Given the description of an element on the screen output the (x, y) to click on. 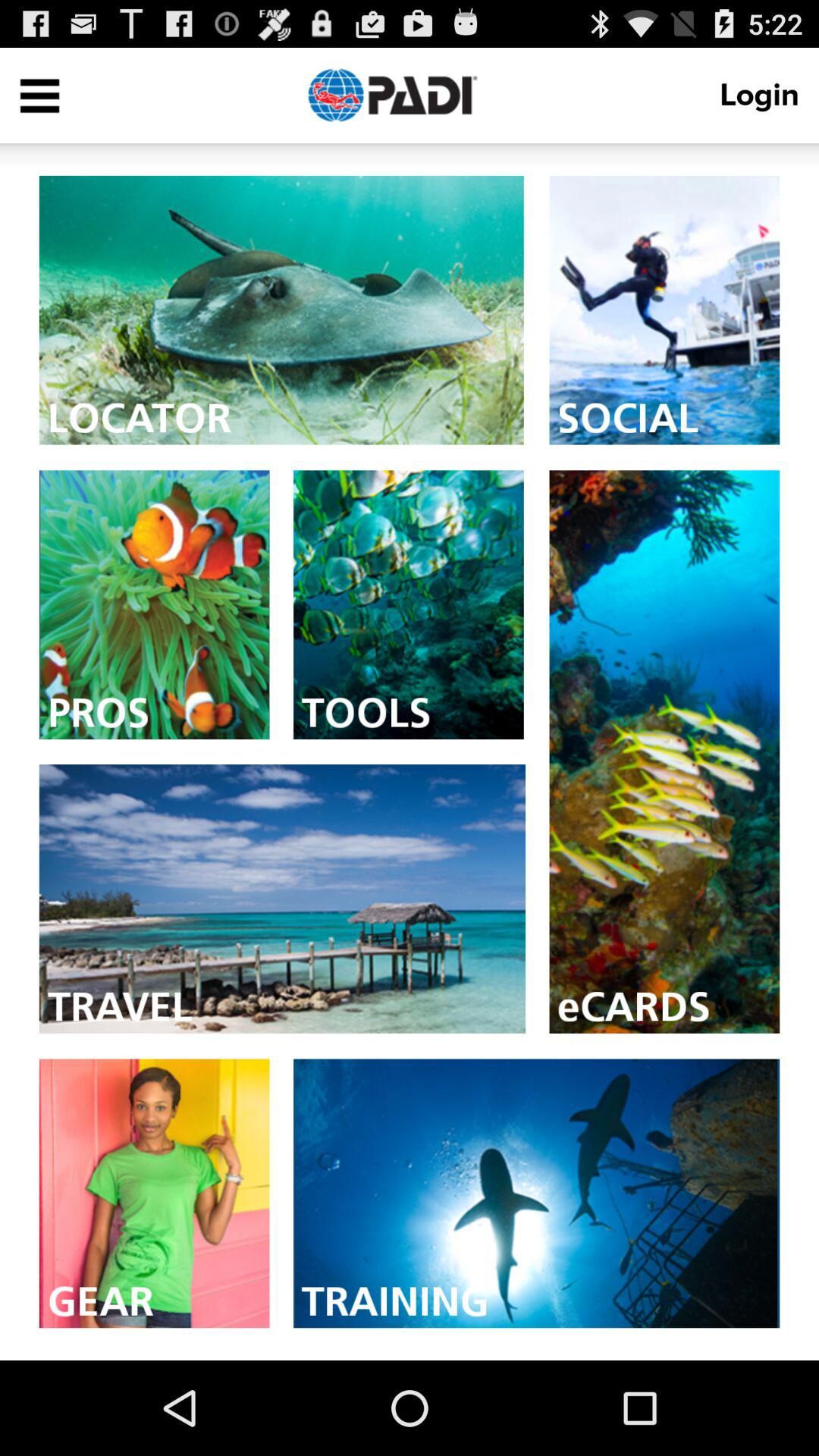
find an ecard (664, 751)
